Given the description of an element on the screen output the (x, y) to click on. 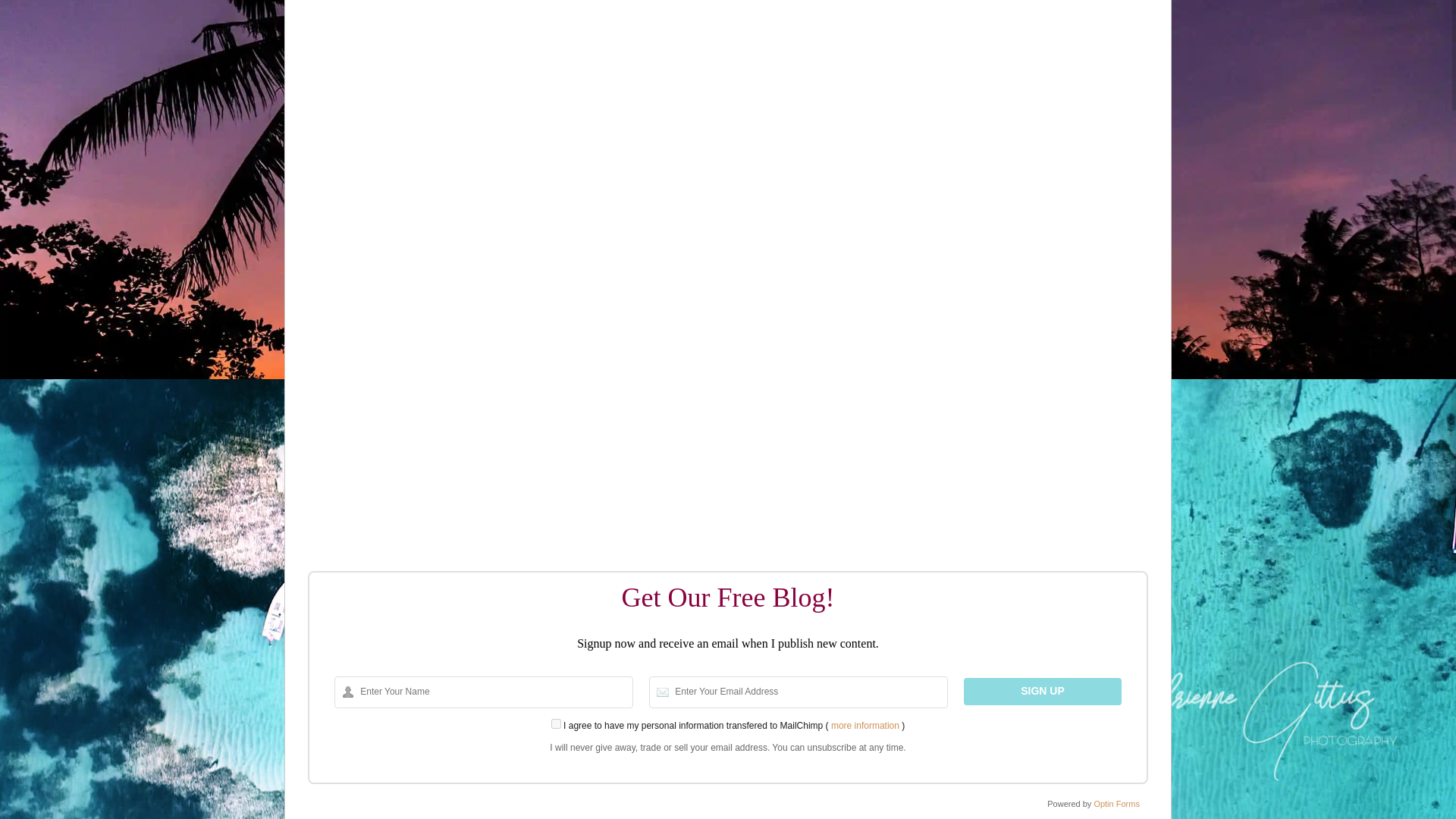
SIGN UP (1042, 691)
